Given the description of an element on the screen output the (x, y) to click on. 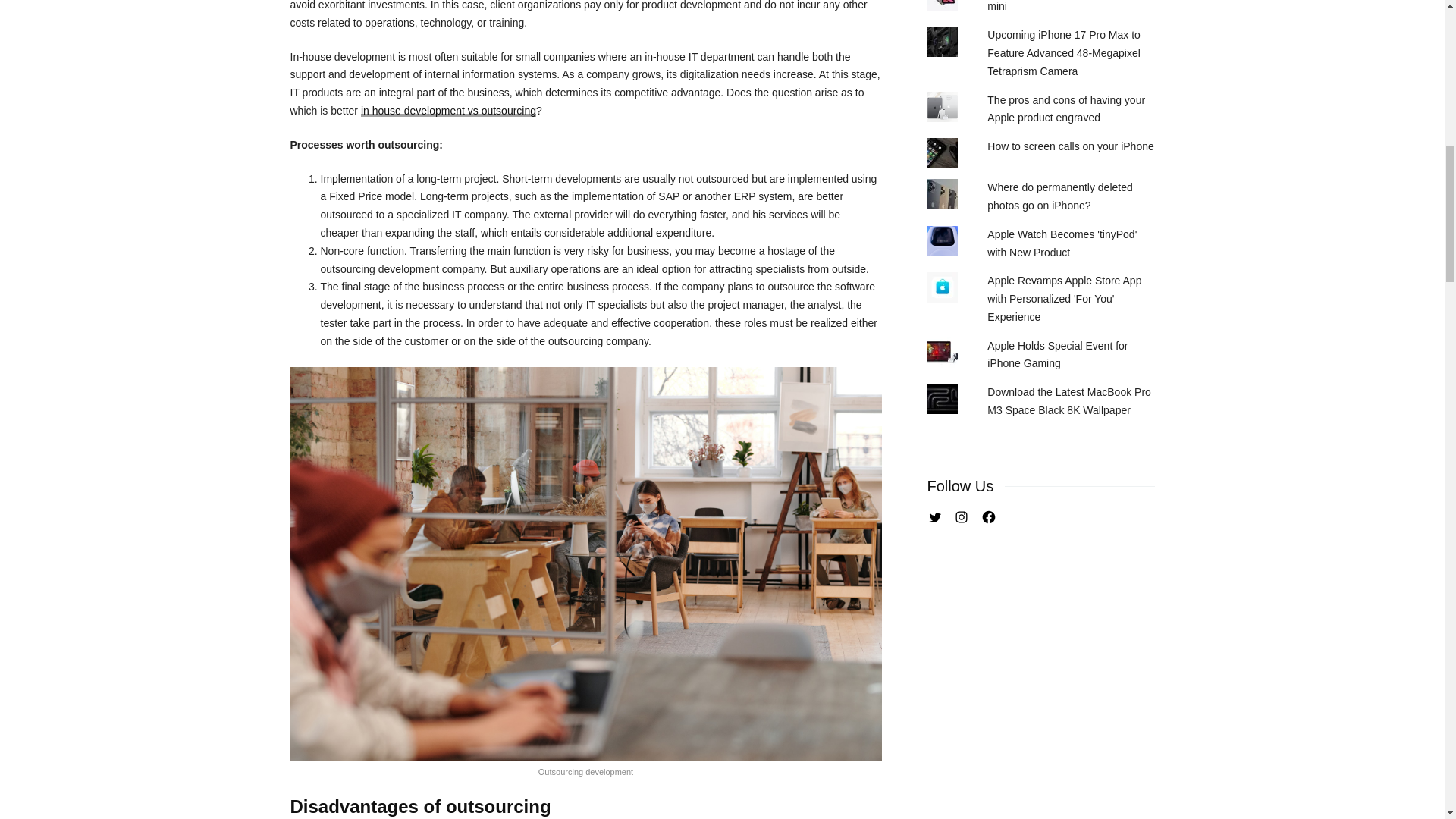
in house development vs outsourcing (448, 110)
